Given the description of an element on the screen output the (x, y) to click on. 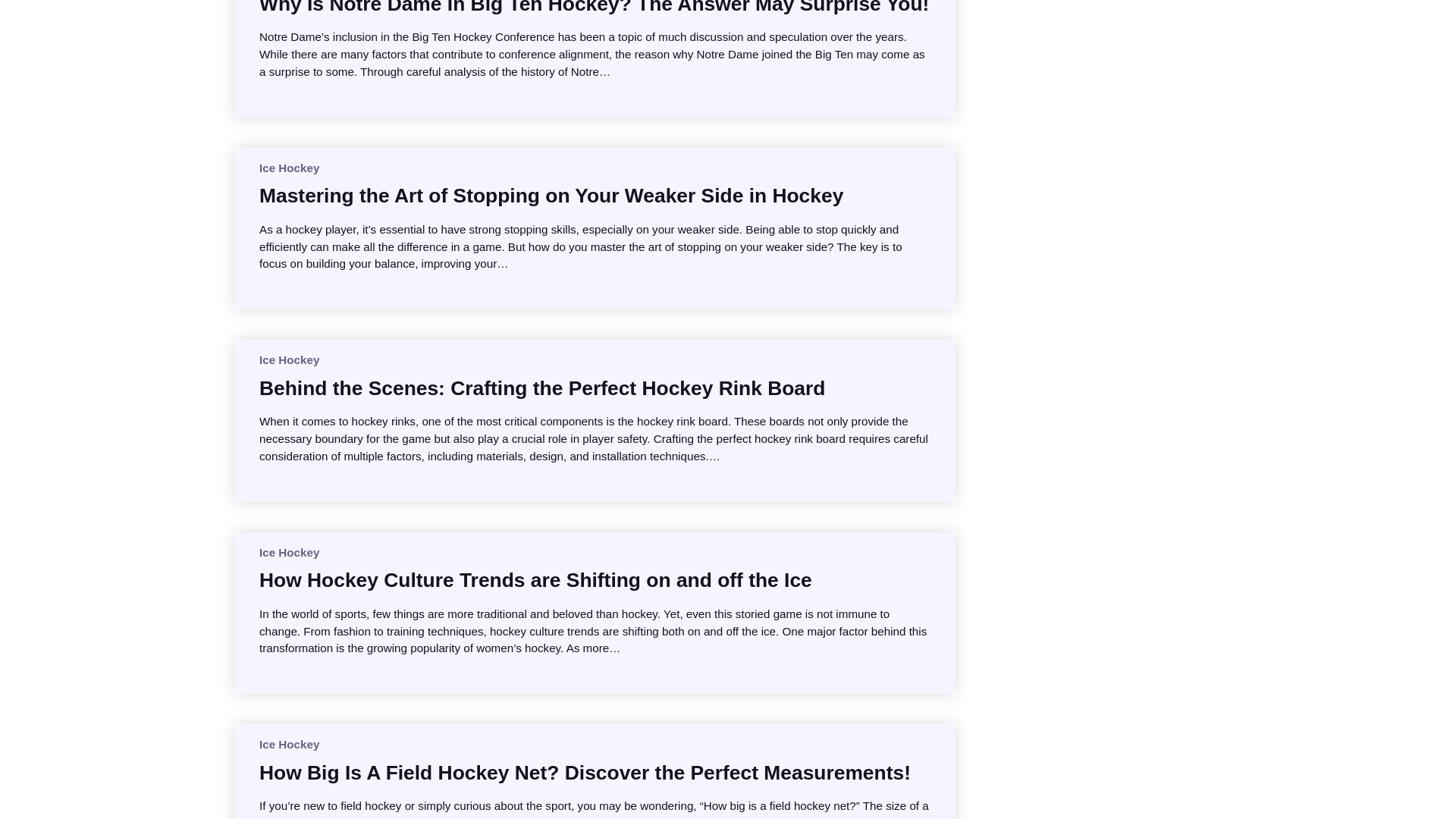
Ice Hockey (288, 744)
Ice Hockey (288, 552)
Mastering the Art of Stopping on Your Weaker Side in Hockey (551, 195)
Ice Hockey (288, 167)
Behind the Scenes: Crafting the Perfect Hockey Rink Board (542, 388)
Ice Hockey (288, 359)
How Hockey Culture Trends are Shifting on and off the Ice (535, 579)
